Given the description of an element on the screen output the (x, y) to click on. 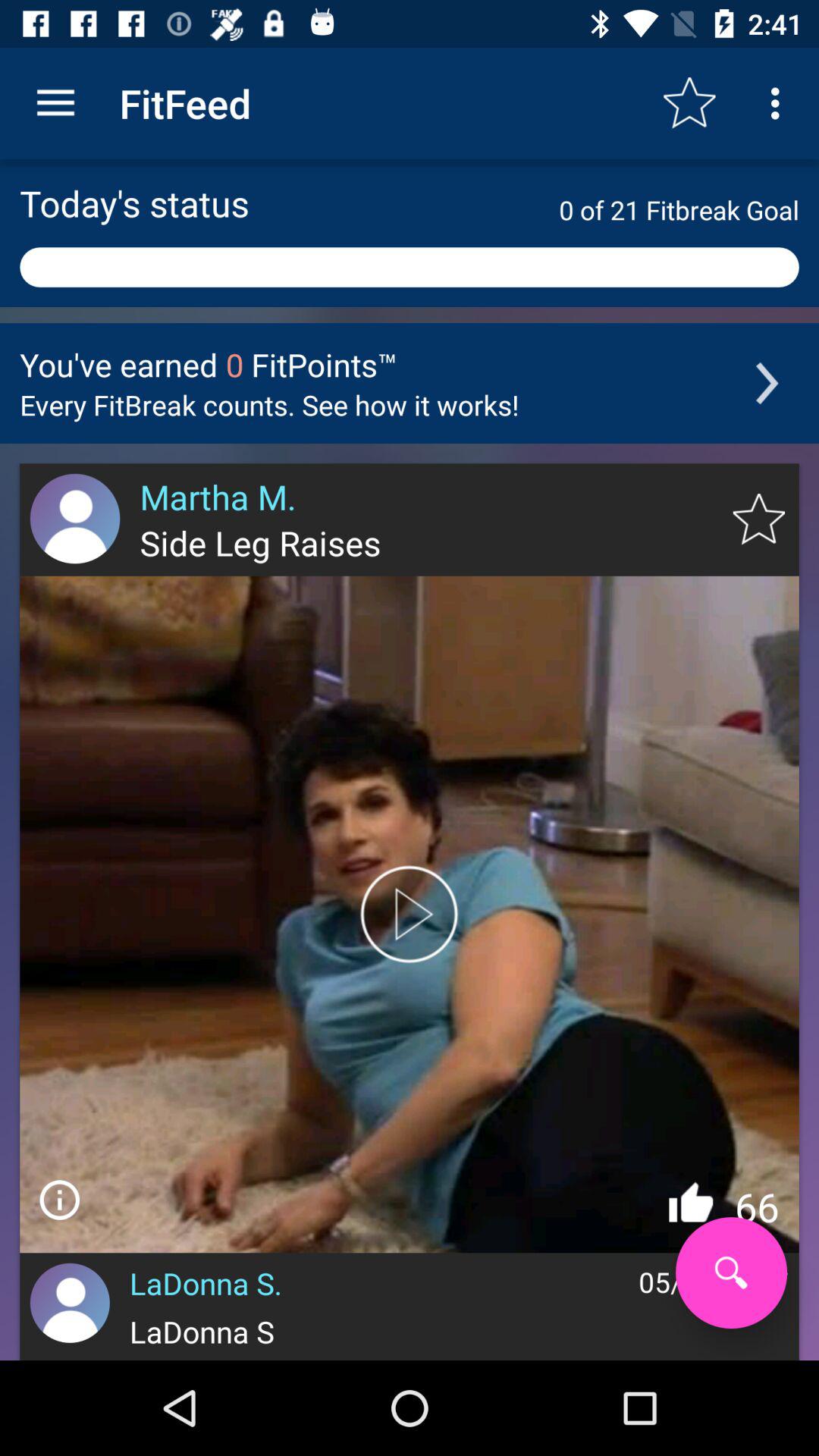
play video (409, 914)
